Given the description of an element on the screen output the (x, y) to click on. 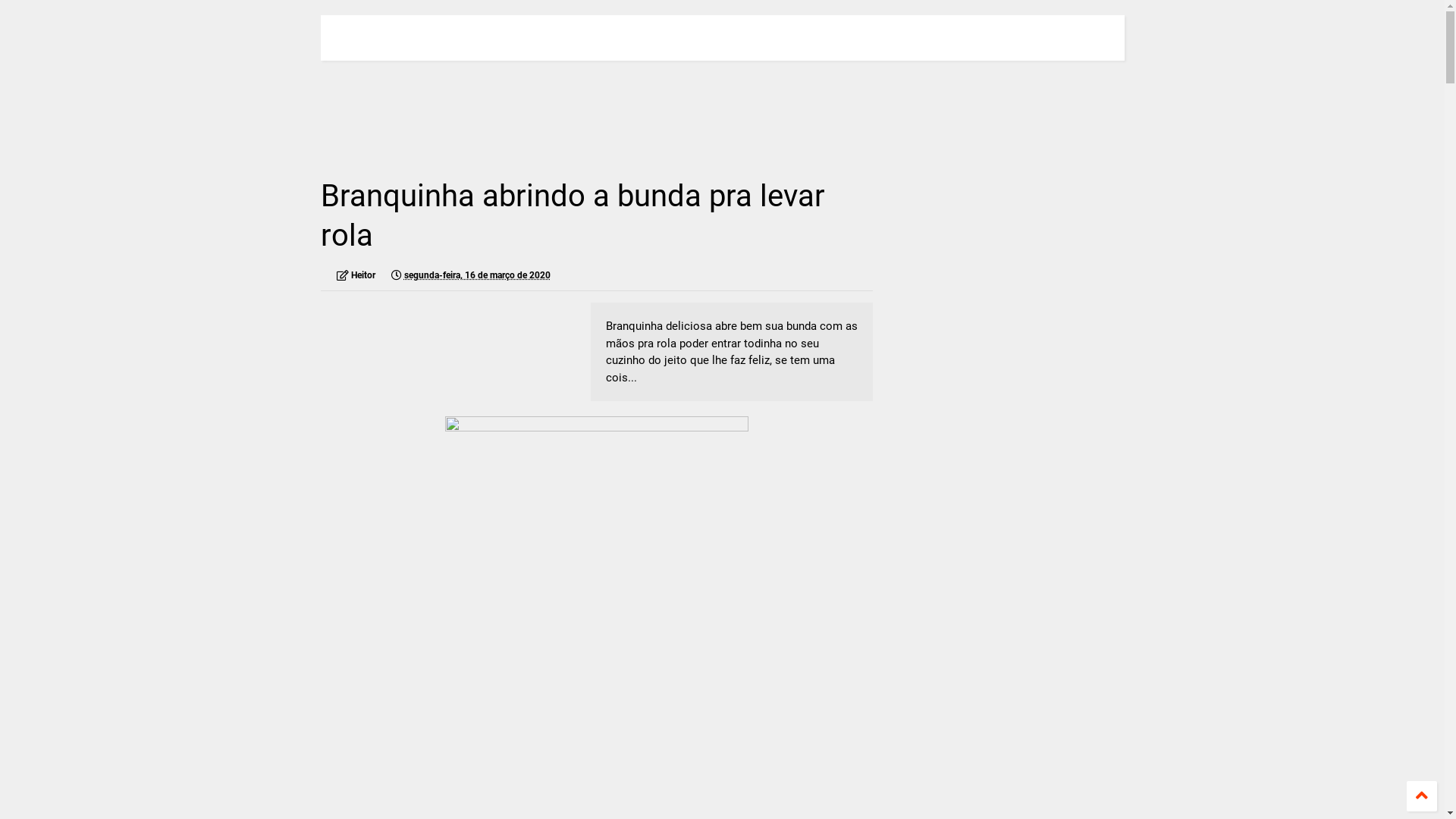
Heitor Element type: text (355, 274)
